Given the description of an element on the screen output the (x, y) to click on. 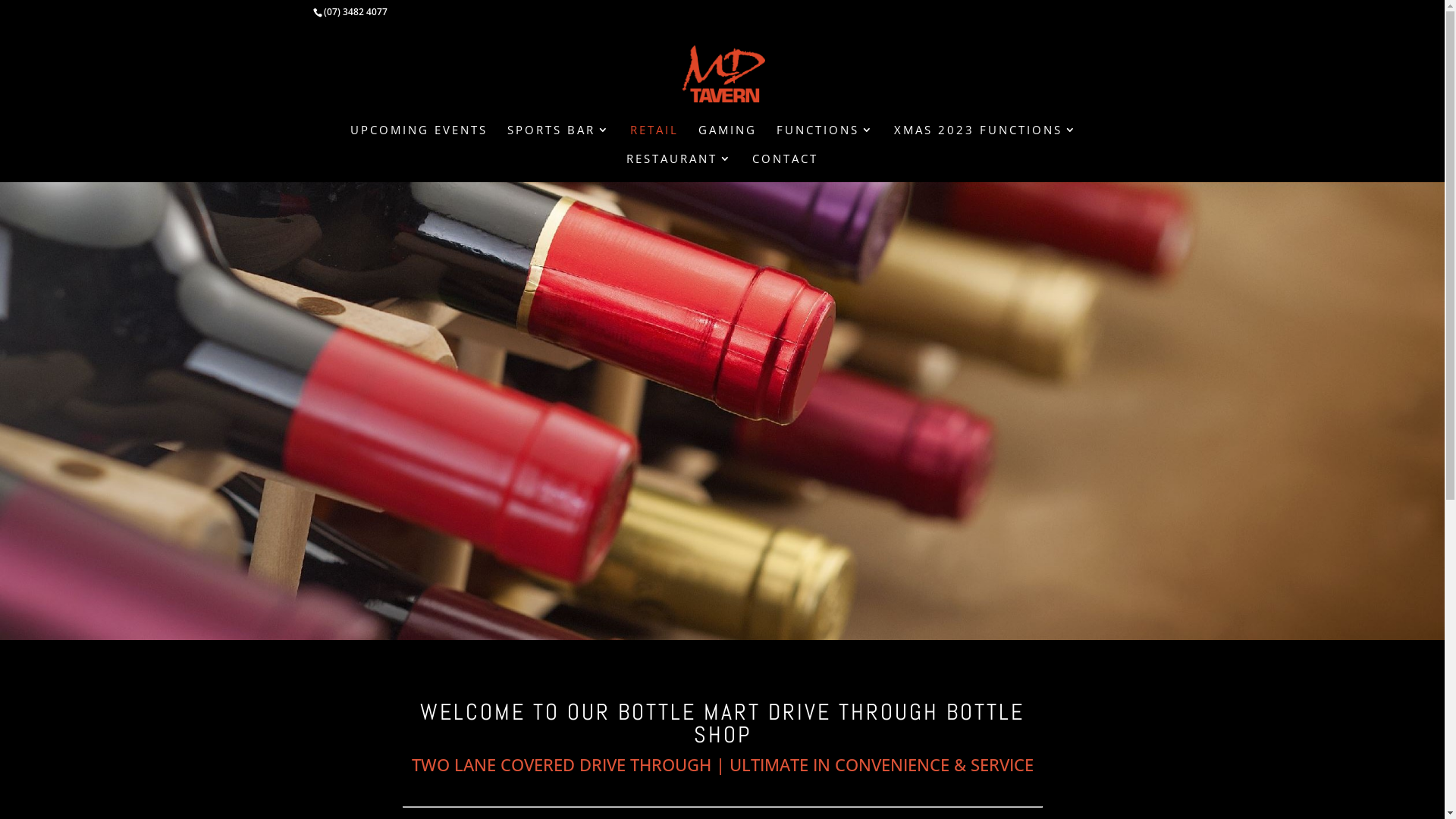
RETAIL Element type: text (654, 138)
FUNCTIONS Element type: text (825, 138)
UPCOMING EVENTS Element type: text (418, 138)
RESTAURANT Element type: text (679, 167)
(07) 3482 4077 Element type: text (354, 11)
SPORTS BAR Element type: text (558, 138)
CONTACT Element type: text (785, 167)
XMAS 2023 FUNCTIONS Element type: text (985, 138)
GAMING Element type: text (727, 138)
